Given the description of an element on the screen output the (x, y) to click on. 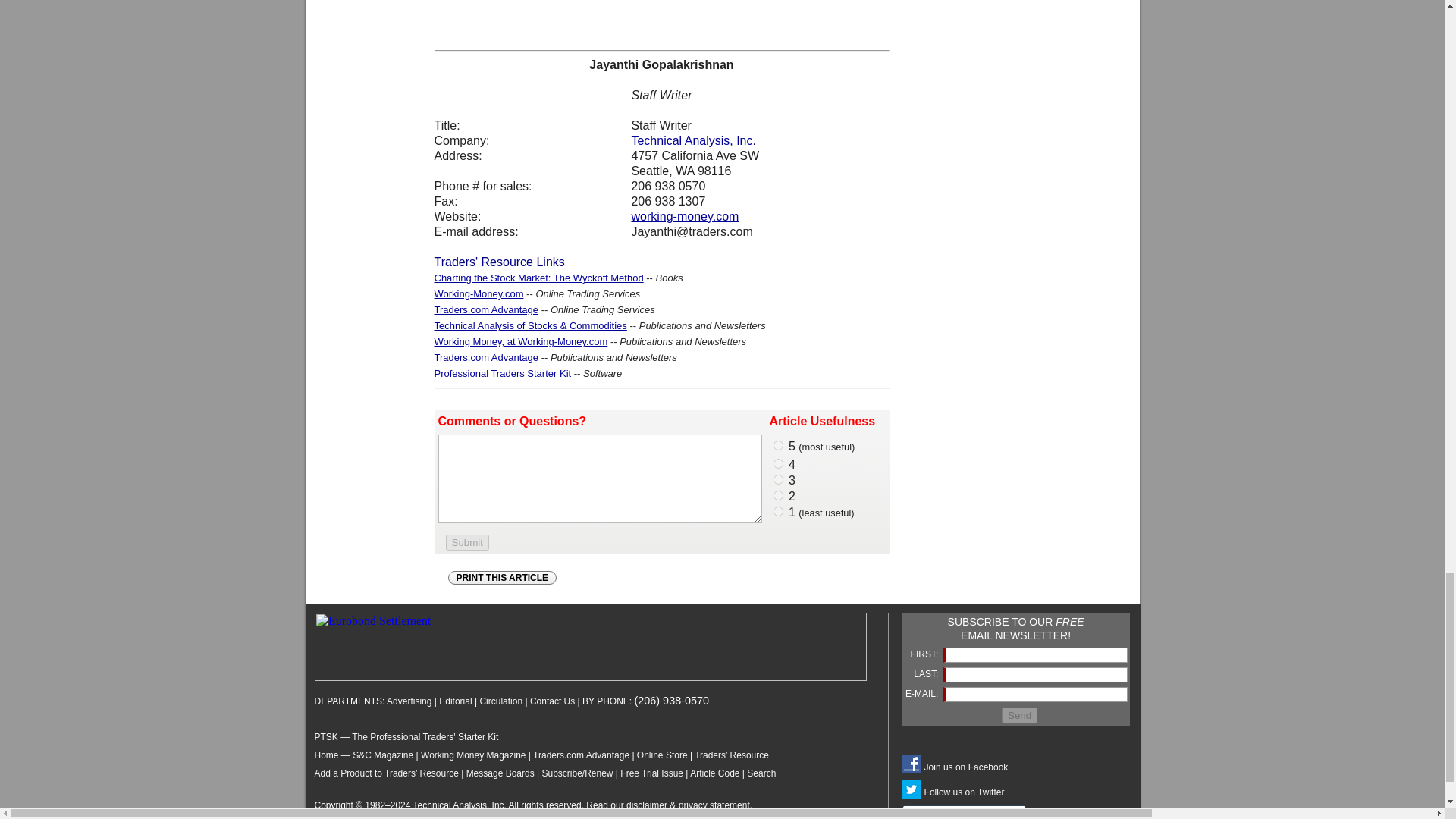
4 (778, 463)
Send (1018, 715)
2 (778, 495)
3 (778, 479)
1 (778, 511)
5 (778, 445)
Submit (467, 542)
